Given the description of an element on the screen output the (x, y) to click on. 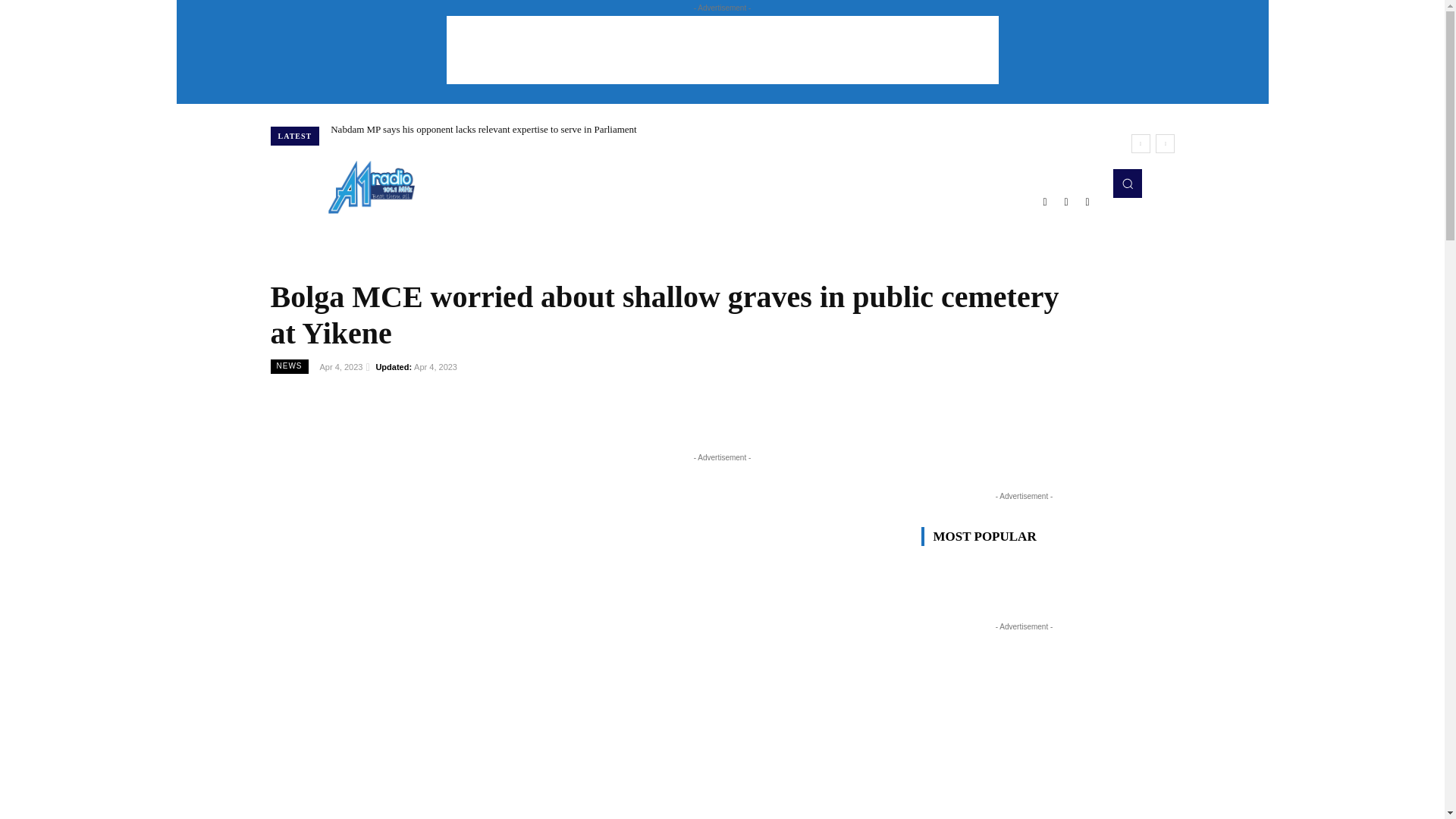
Youtube (1087, 201)
Twitter (1066, 201)
Facebook (1044, 201)
